Given the description of an element on the screen output the (x, y) to click on. 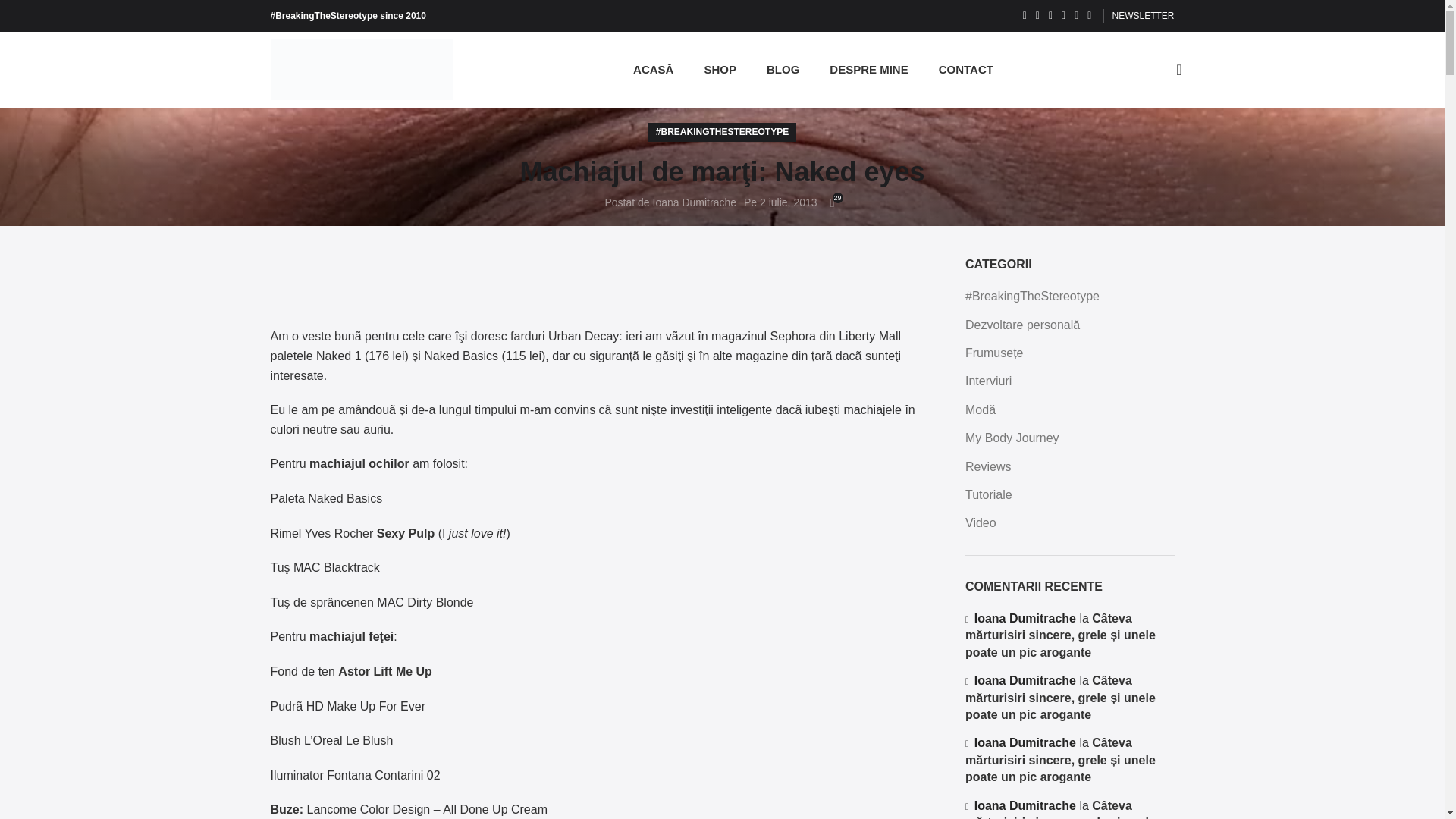
SHOP (719, 69)
Ioana Dumitrache (694, 202)
NEWSLETTER (1142, 15)
Sexy Pulp (405, 533)
DESPRE MINE (868, 69)
CONTACT (965, 69)
29 (832, 202)
Astor Lift Me Up (384, 671)
BLOG (783, 69)
